Given the description of an element on the screen output the (x, y) to click on. 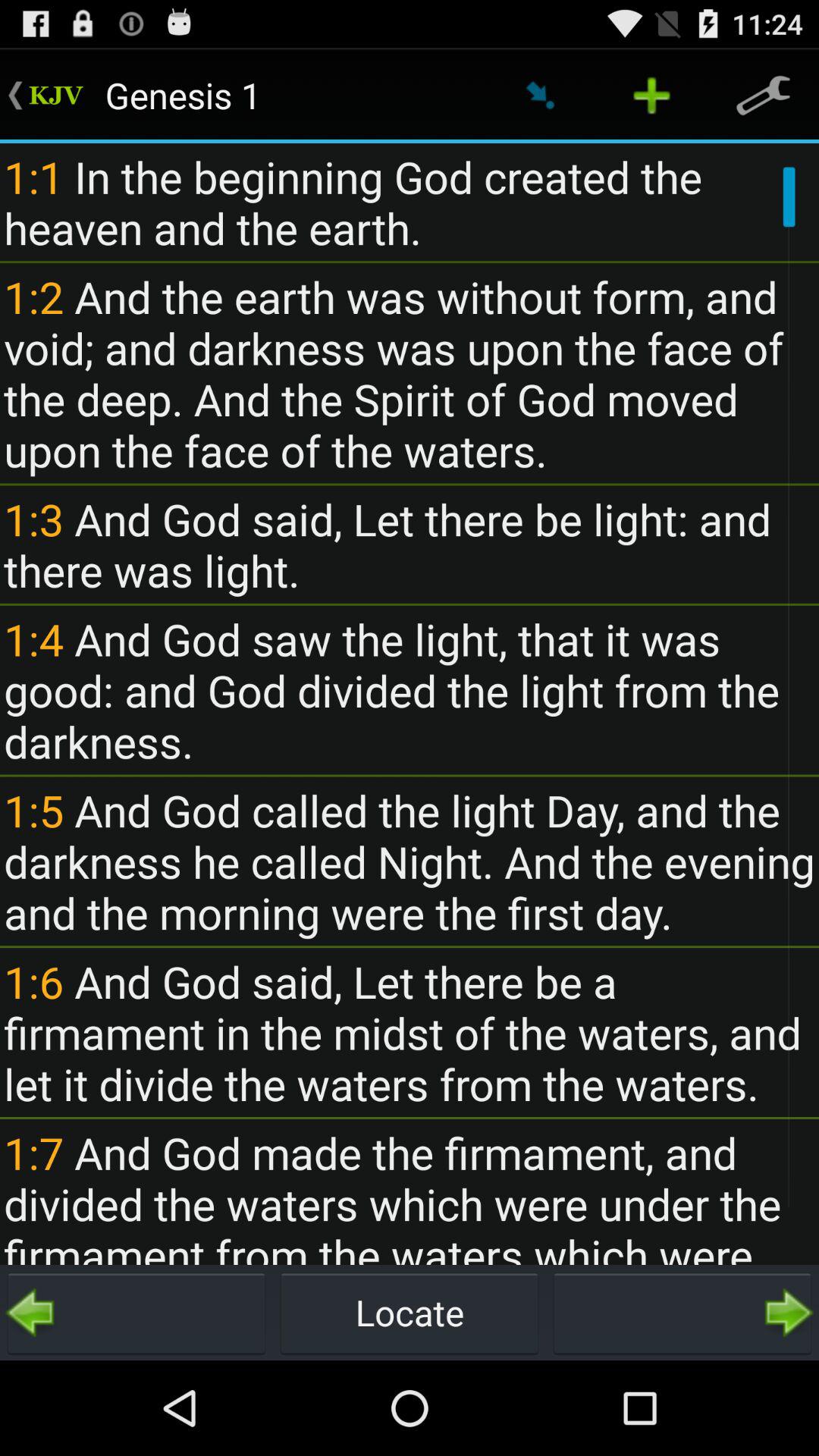
turn off icon below 1 7 and (682, 1312)
